Given the description of an element on the screen output the (x, y) to click on. 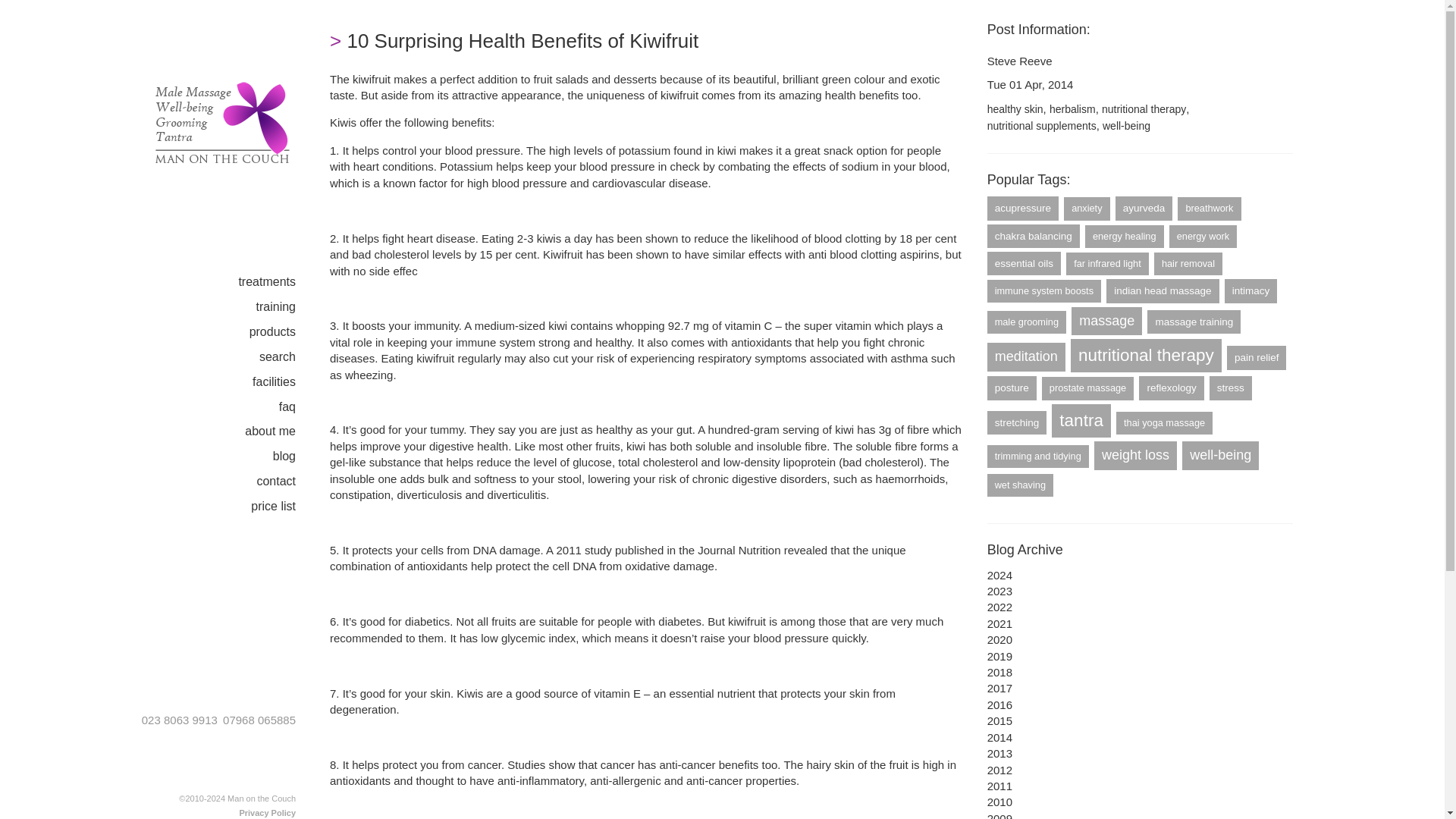
nutritional supplements (1041, 126)
nutritional therapy (1144, 109)
indian head massage (1162, 290)
anxiety (1086, 208)
ayurveda (1144, 208)
massage (1106, 321)
healthy skin (1015, 109)
breathwork (1208, 208)
price list (284, 506)
immune system boosts (1043, 291)
blog (295, 456)
search (288, 357)
hair removal (1188, 263)
energy work (1202, 236)
treatments (278, 282)
